Given the description of an element on the screen output the (x, y) to click on. 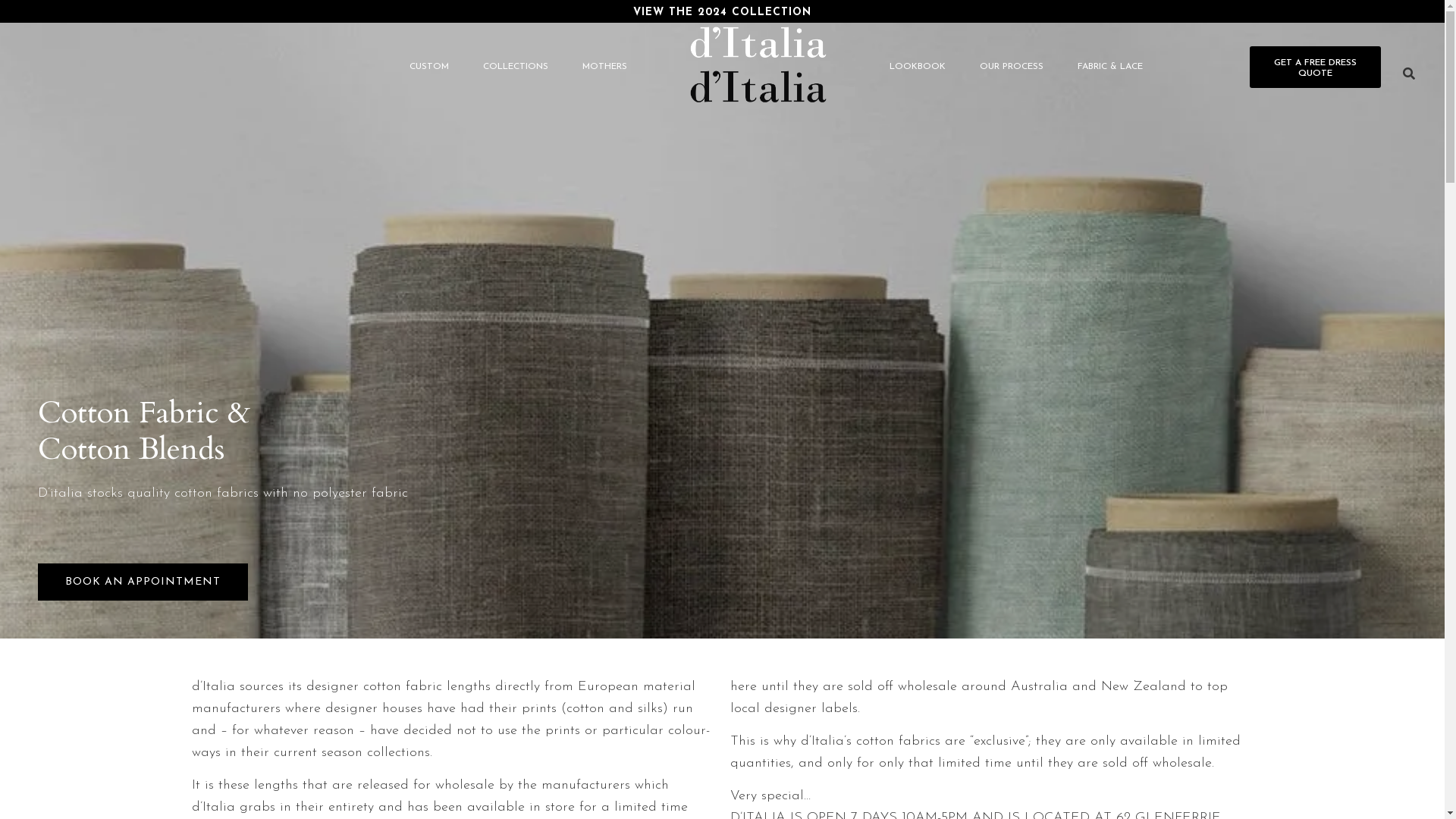
CUSTOM Element type: text (429, 66)
GET A FREE DRESS QUOTE Element type: text (1314, 66)
BOOK AN APPOINTMENT Element type: text (142, 581)
COLLECTIONS Element type: text (515, 66)
OUR PROCESS Element type: text (1011, 66)
MOTHERS Element type: text (604, 66)
FABRIC & LACE Element type: text (1109, 66)
LOOKBOOK Element type: text (917, 66)
VIEW THE 2024 COLLECTION Element type: text (722, 11)
